Given the description of an element on the screen output the (x, y) to click on. 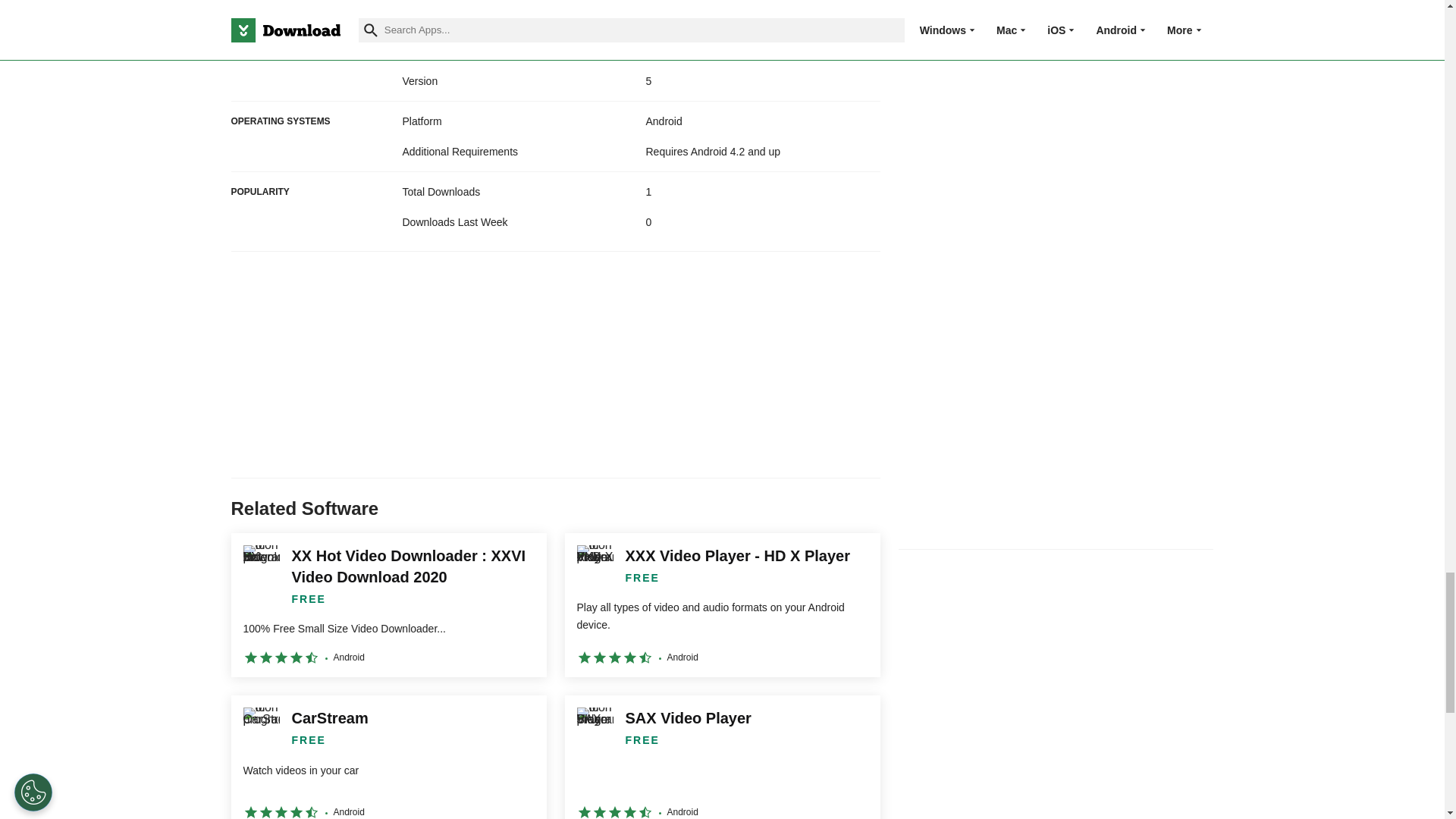
XX Hot Video Downloader : XXVI Video Download 2020 (388, 605)
CarStream (388, 757)
SAX Video Player (721, 757)
XXX Video Player - HD X Player (721, 605)
